Given the description of an element on the screen output the (x, y) to click on. 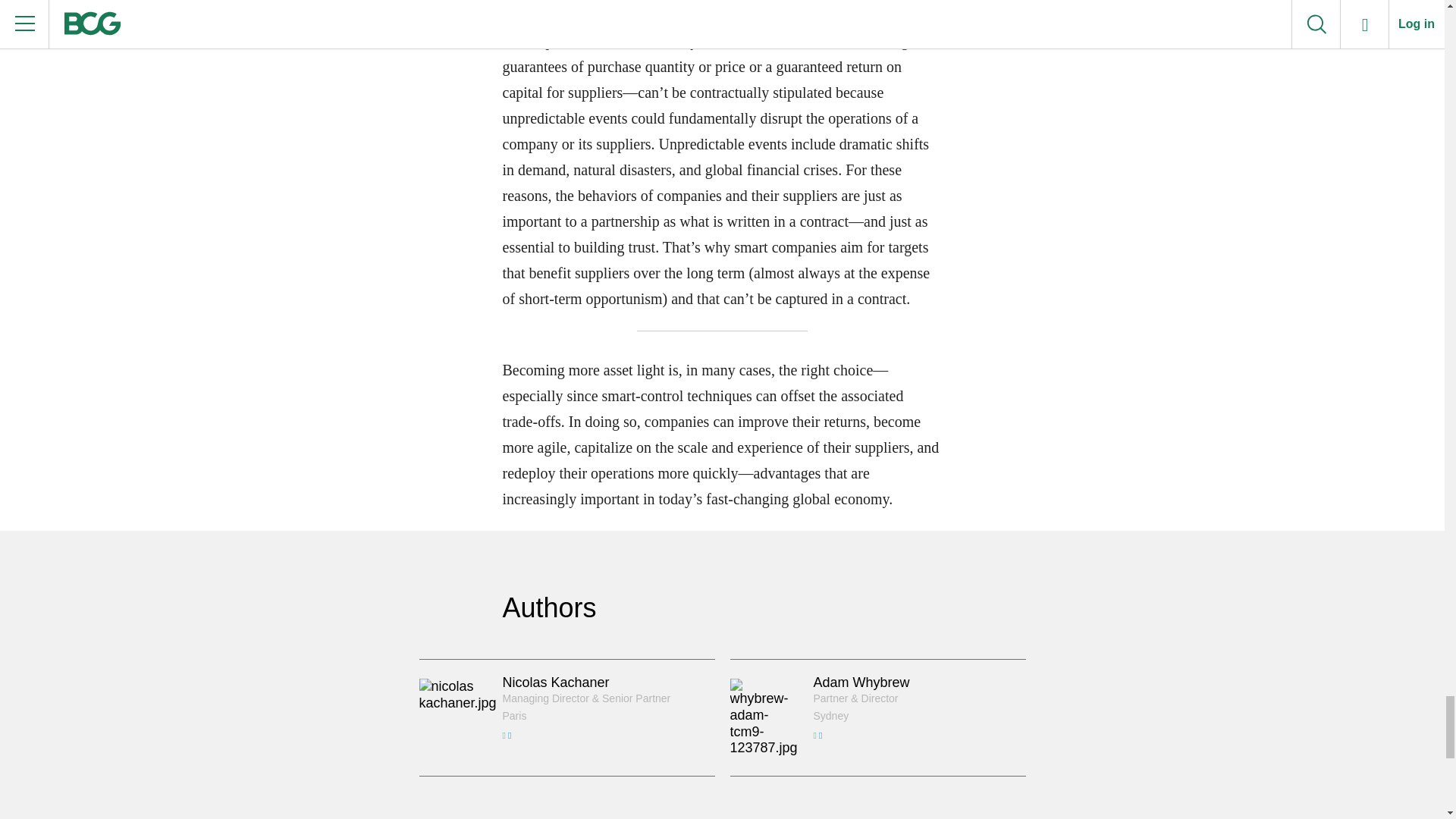
Nicolas Kachaner (555, 682)
